Given the description of an element on the screen output the (x, y) to click on. 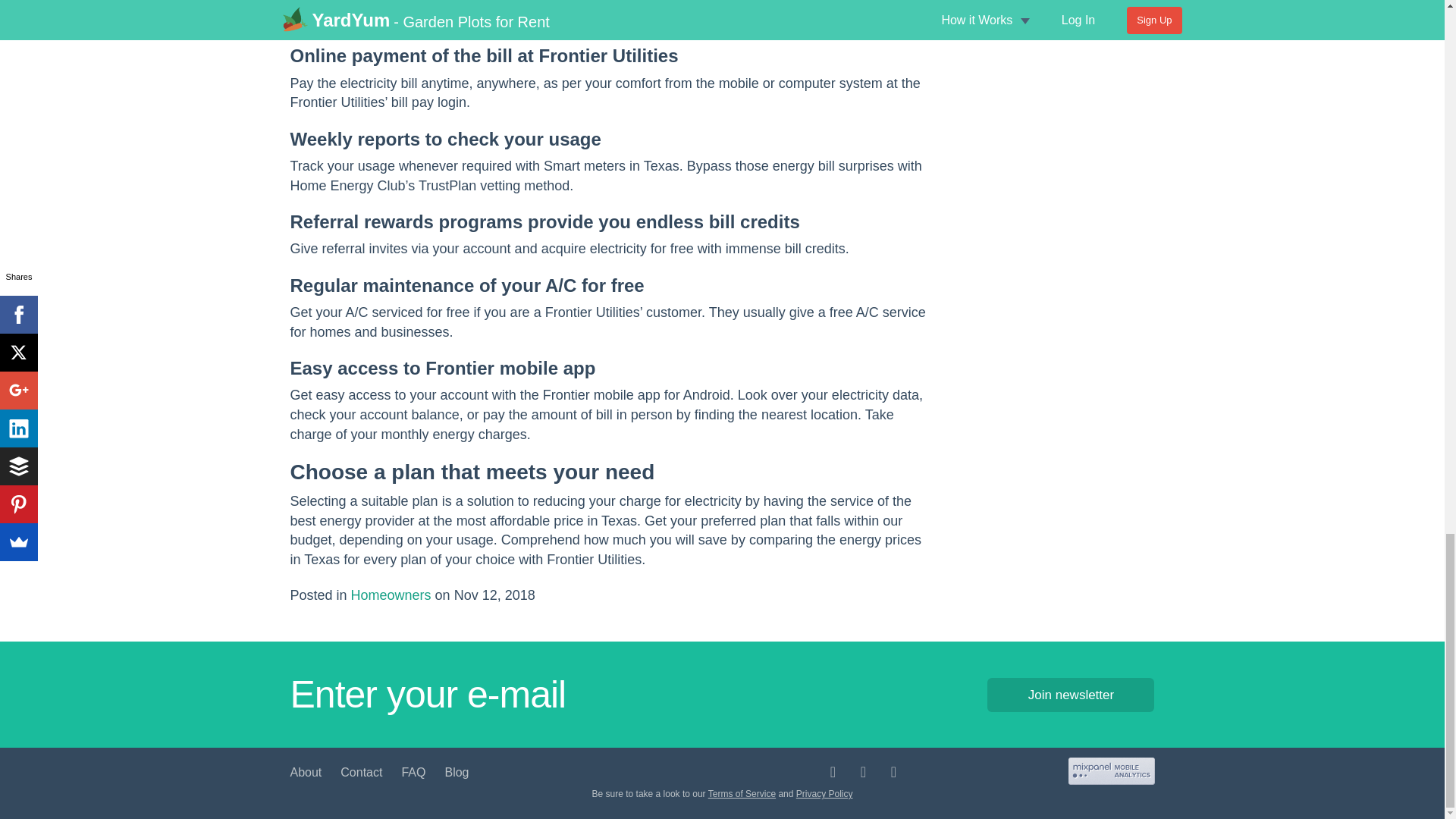
Homeowners (390, 595)
Join newsletter (1070, 694)
About (305, 771)
Privacy Policy (824, 793)
Terms of Service (741, 793)
Contact (360, 771)
FAQ (413, 771)
Blog (456, 771)
